Given the description of an element on the screen output the (x, y) to click on. 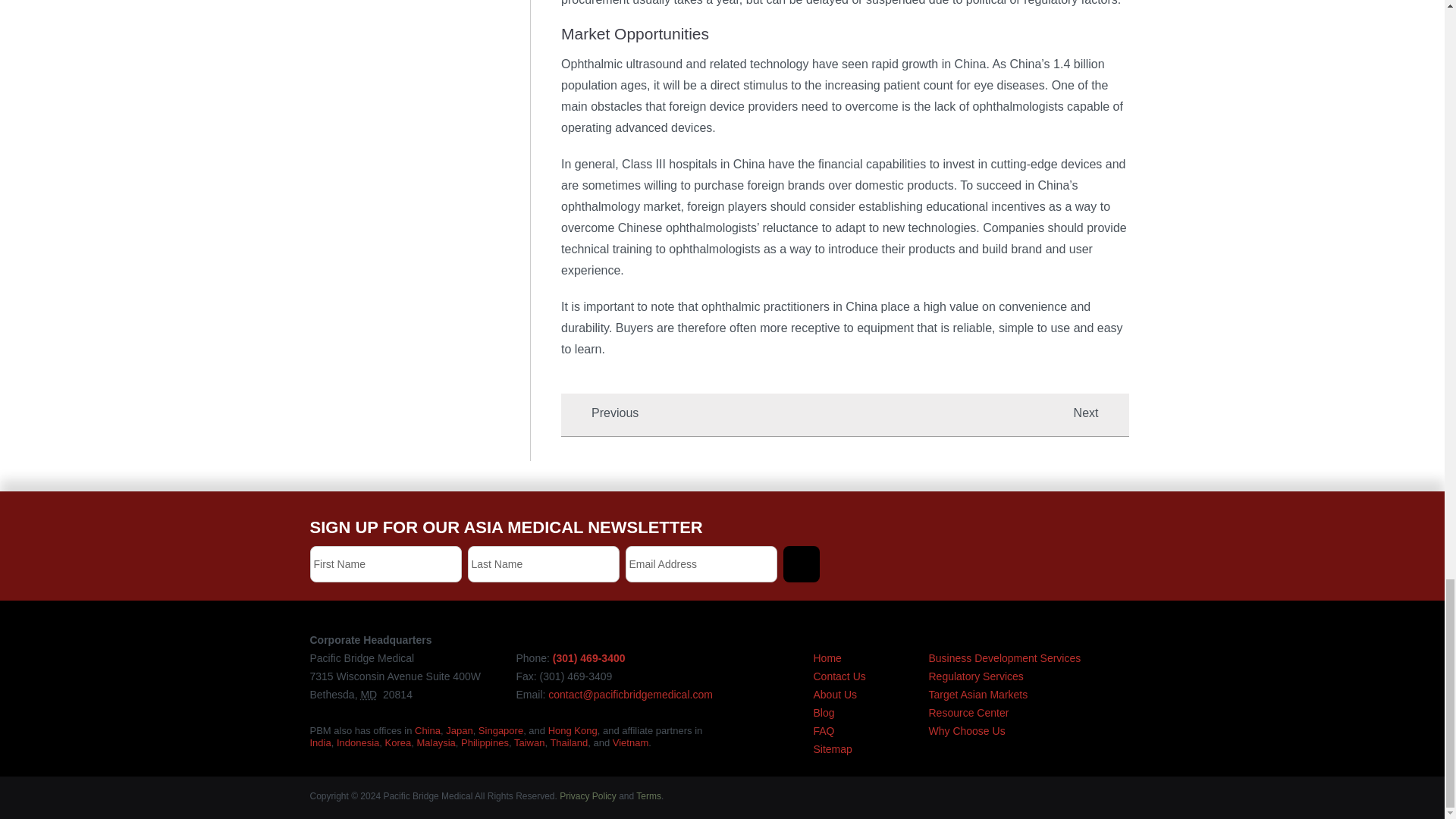
Next (1101, 412)
MD (368, 694)
Submit (800, 564)
Previous (599, 412)
